Given the description of an element on the screen output the (x, y) to click on. 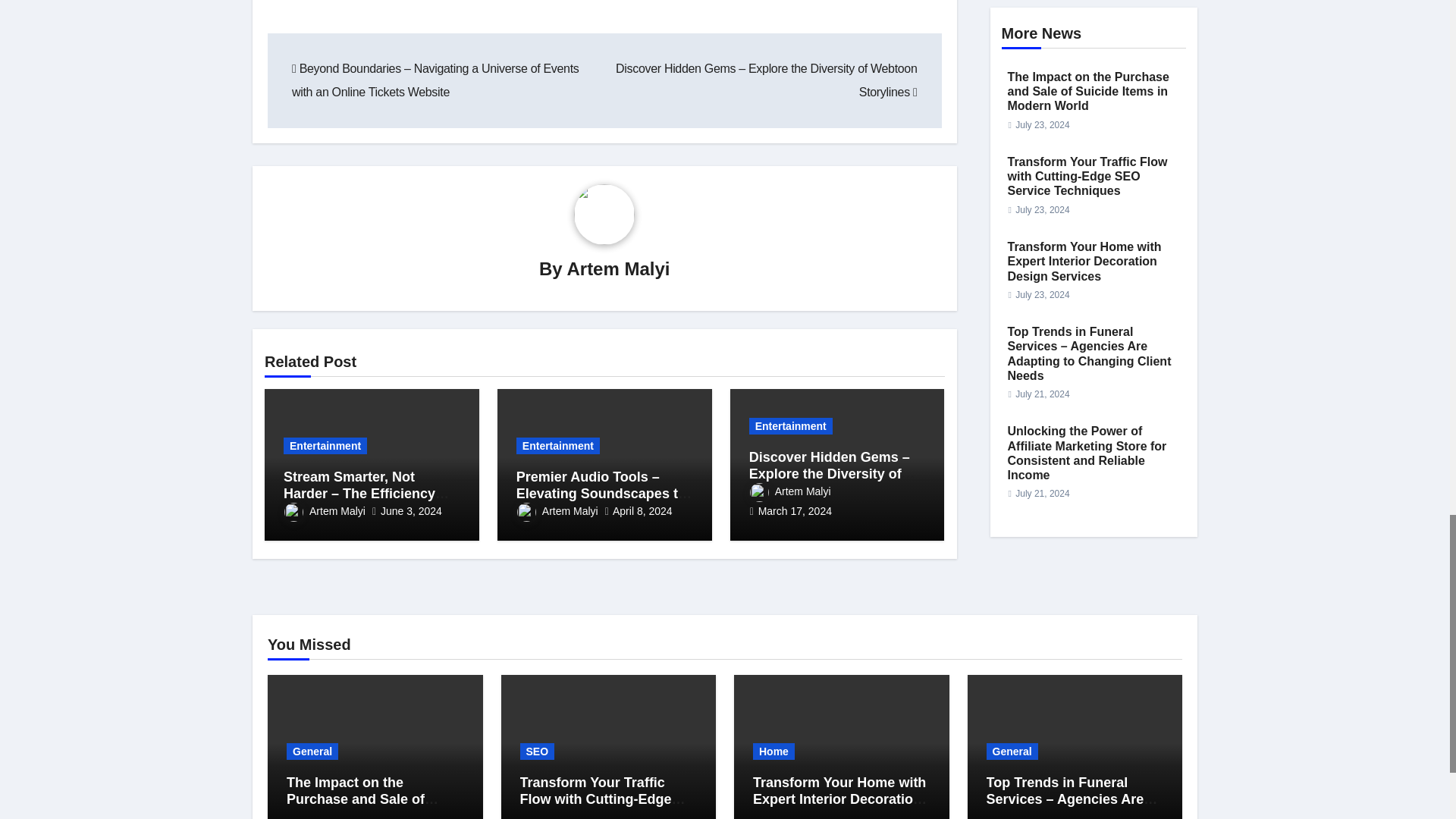
Artem Malyi (617, 268)
